Given the description of an element on the screen output the (x, y) to click on. 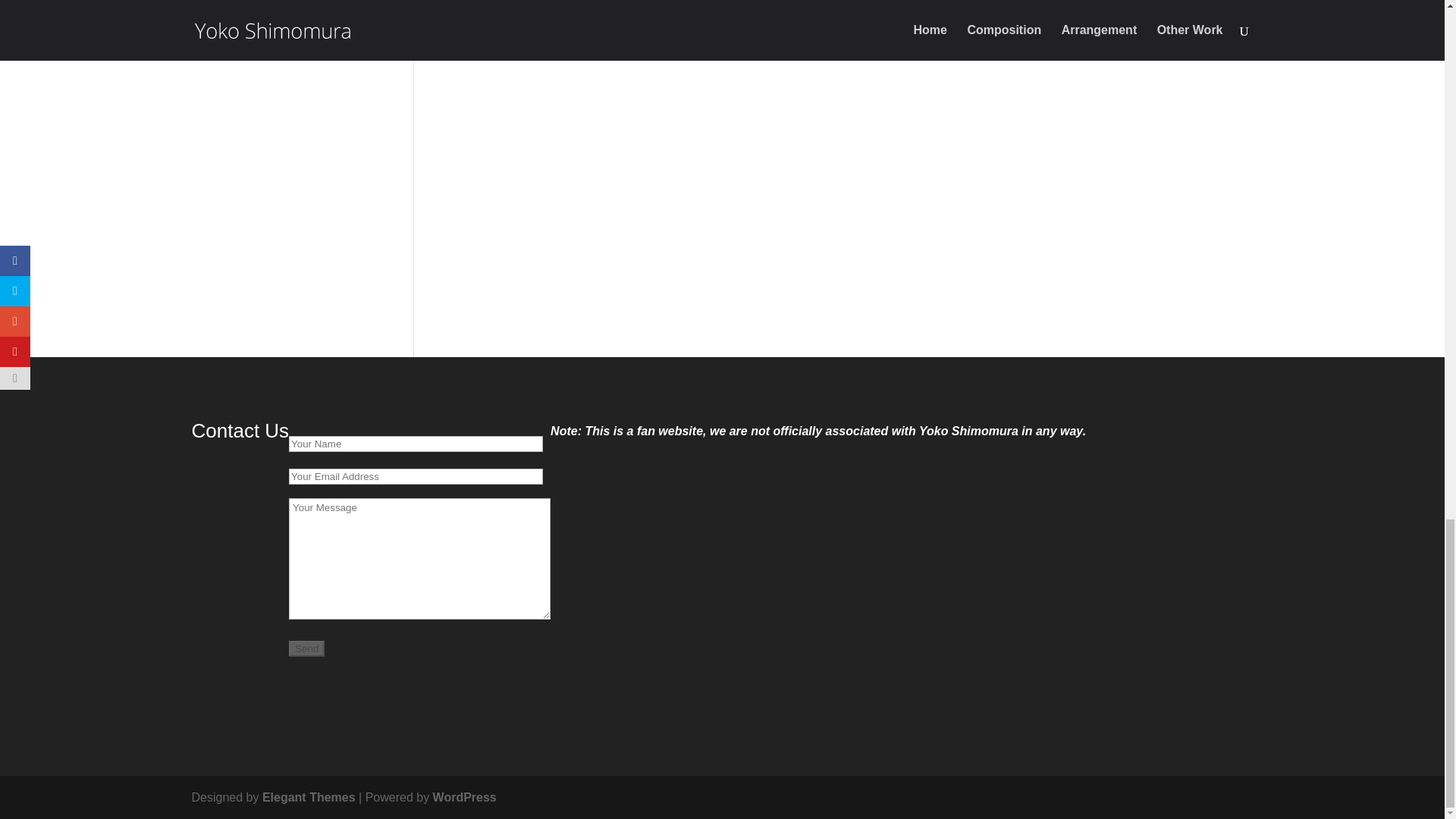
Send (306, 648)
Send (306, 648)
Elegant Themes (308, 797)
Premium WordPress Themes (308, 797)
WordPress (464, 797)
